Given the description of an element on the screen output the (x, y) to click on. 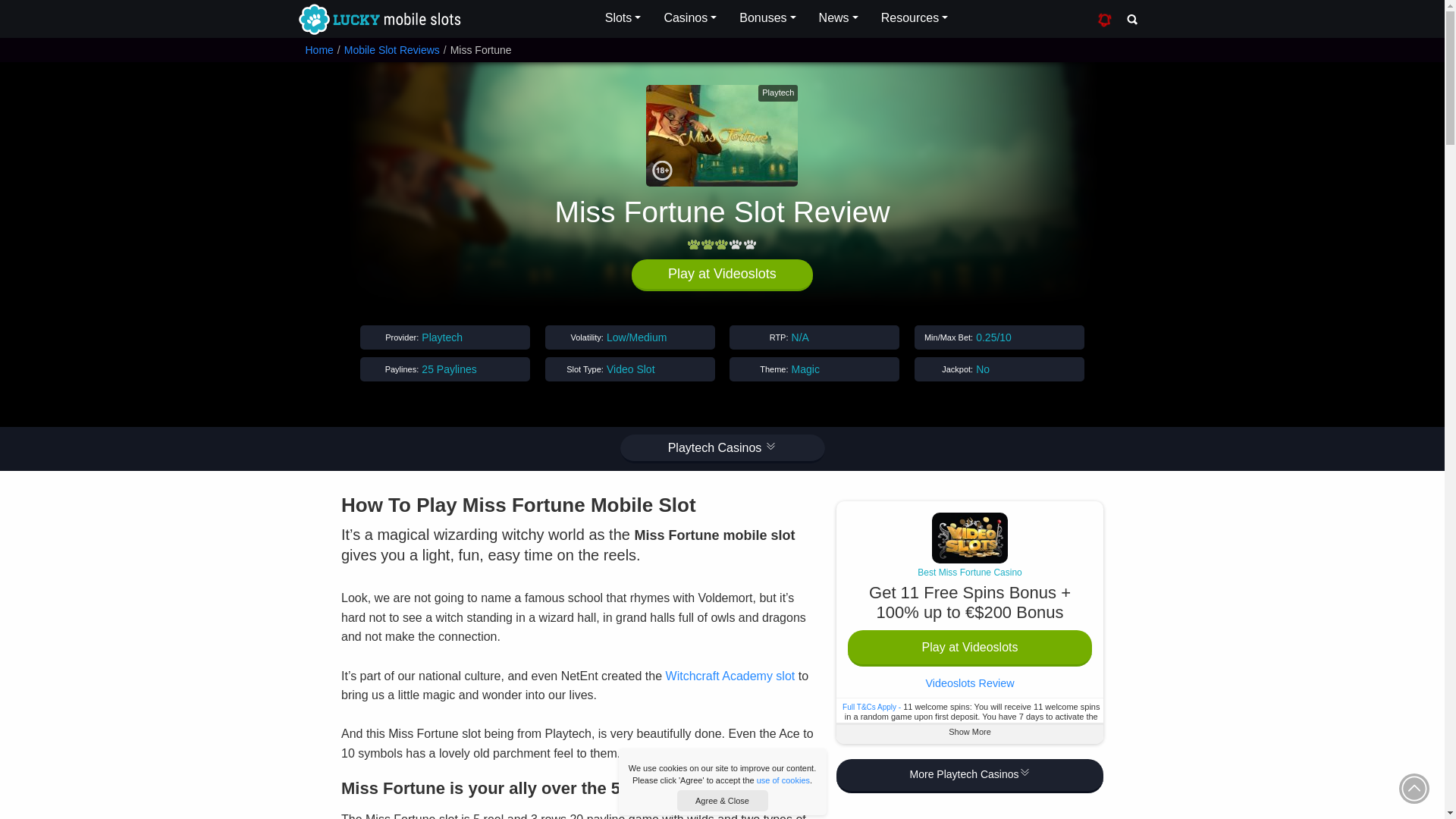
Back to Top (1414, 788)
Casinos (690, 18)
Slots (623, 18)
Lucky Mobile Slots (378, 20)
Mobile Slot Reviews (391, 49)
Resources (914, 18)
More Playtech Casinos (969, 776)
Playtech Casinos (722, 449)
Witchcraft Academy Slot Review (729, 675)
News (838, 18)
Cookies Policy (783, 779)
Home (318, 49)
Bonuses (767, 18)
